Given the description of an element on the screen output the (x, y) to click on. 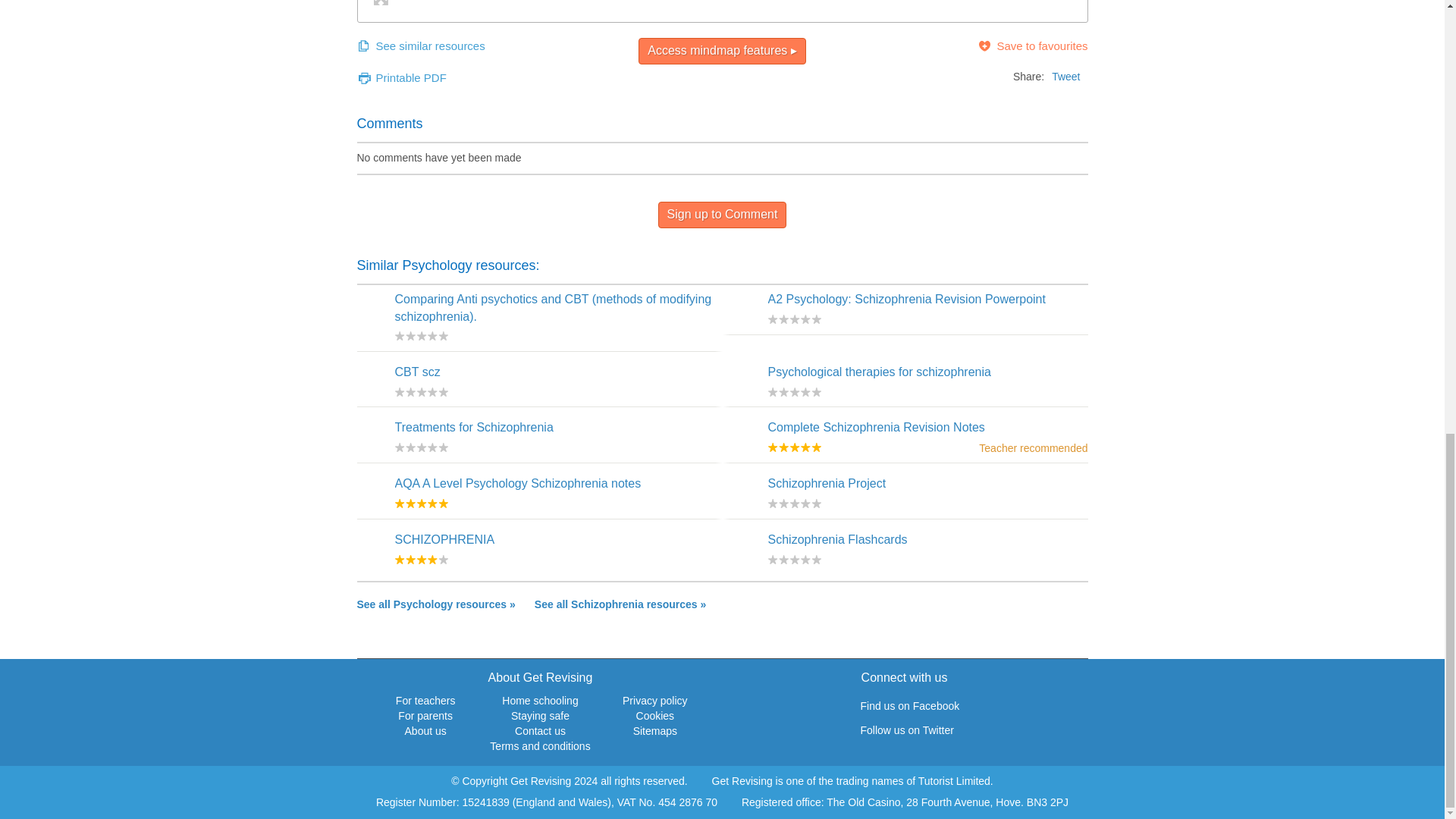
Save to favourites (1031, 45)
Not rated (794, 502)
CBT scz (416, 371)
Not rated (420, 335)
Psychology (435, 604)
Not rated (794, 559)
Treatments for Schizophrenia (473, 427)
Not rated (420, 447)
See similar resources (420, 45)
Not rated (794, 318)
Access mindmap features (722, 50)
Not rated (420, 391)
Sign up to Comment (722, 214)
Complete Schizophrenia Revision Notes (875, 427)
A2 Psychology: Schizophrenia Revision Powerpoint (906, 298)
